Given the description of an element on the screen output the (x, y) to click on. 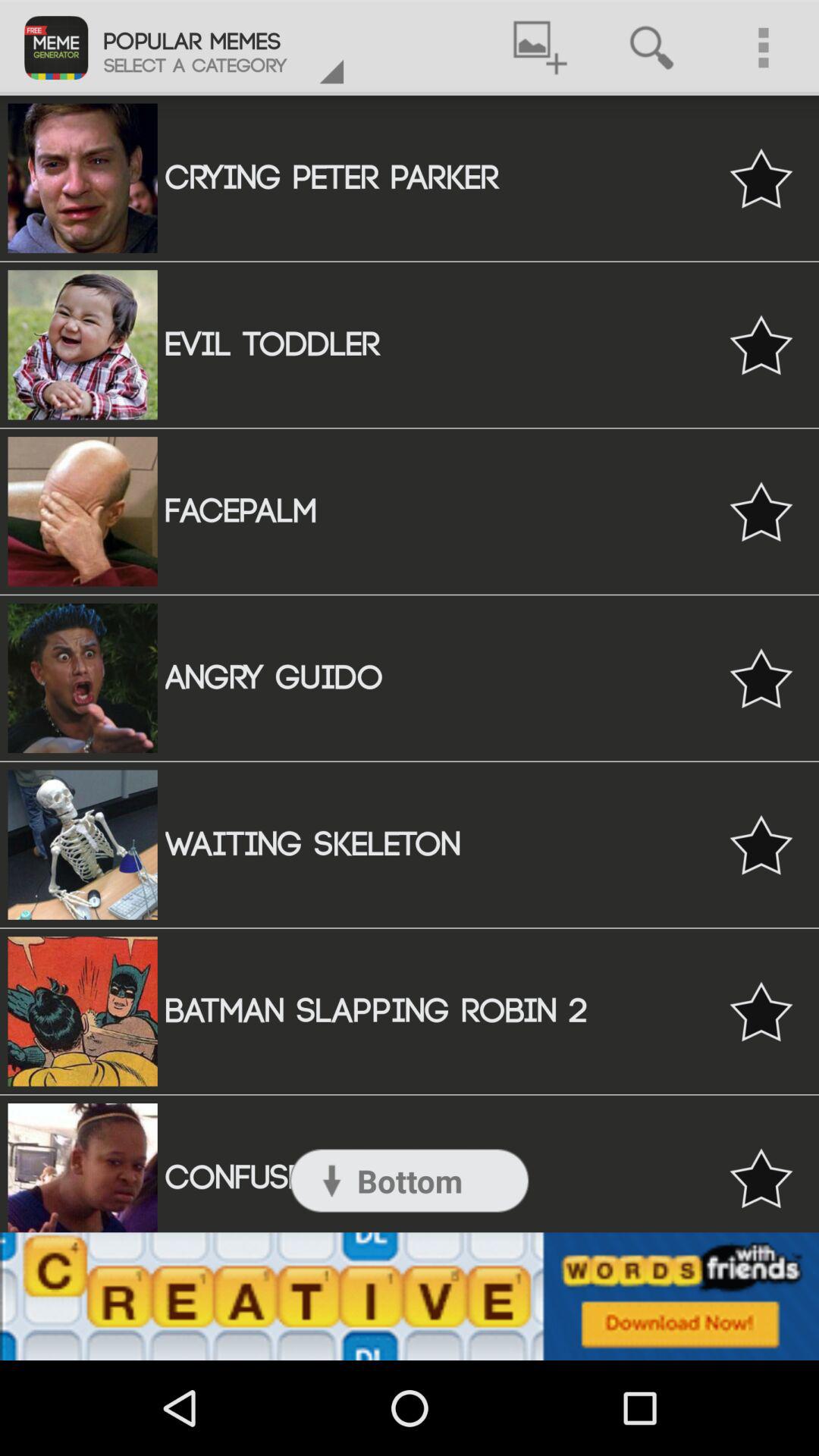
select meme format (761, 344)
